Given the description of an element on the screen output the (x, y) to click on. 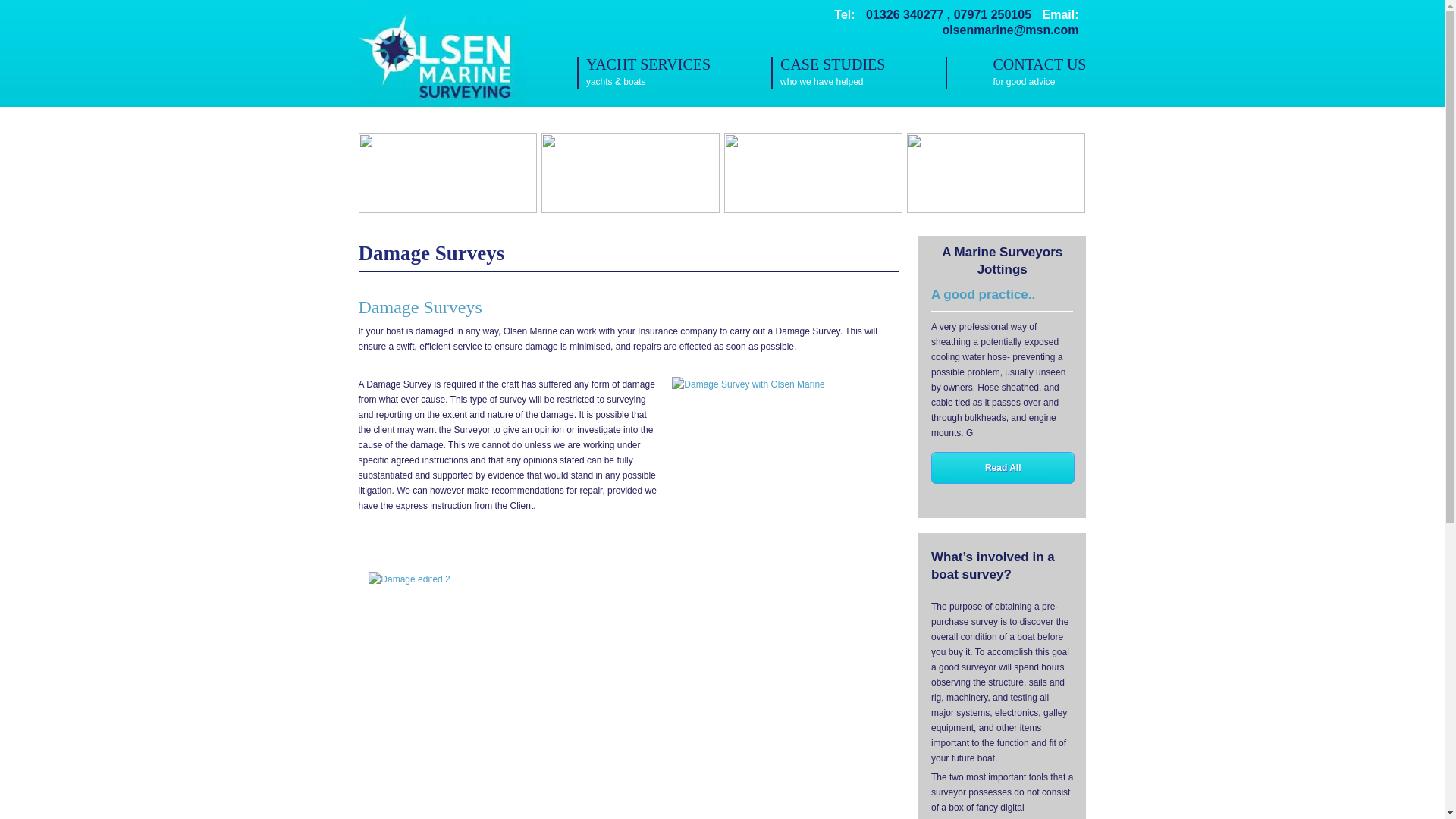
Read All (1003, 468)
SURVEYING (857, 72)
RESTORATION (446, 172)
A good practice.. (630, 172)
CASE STUDIES (983, 294)
A good practice.. (995, 172)
